Given the description of an element on the screen output the (x, y) to click on. 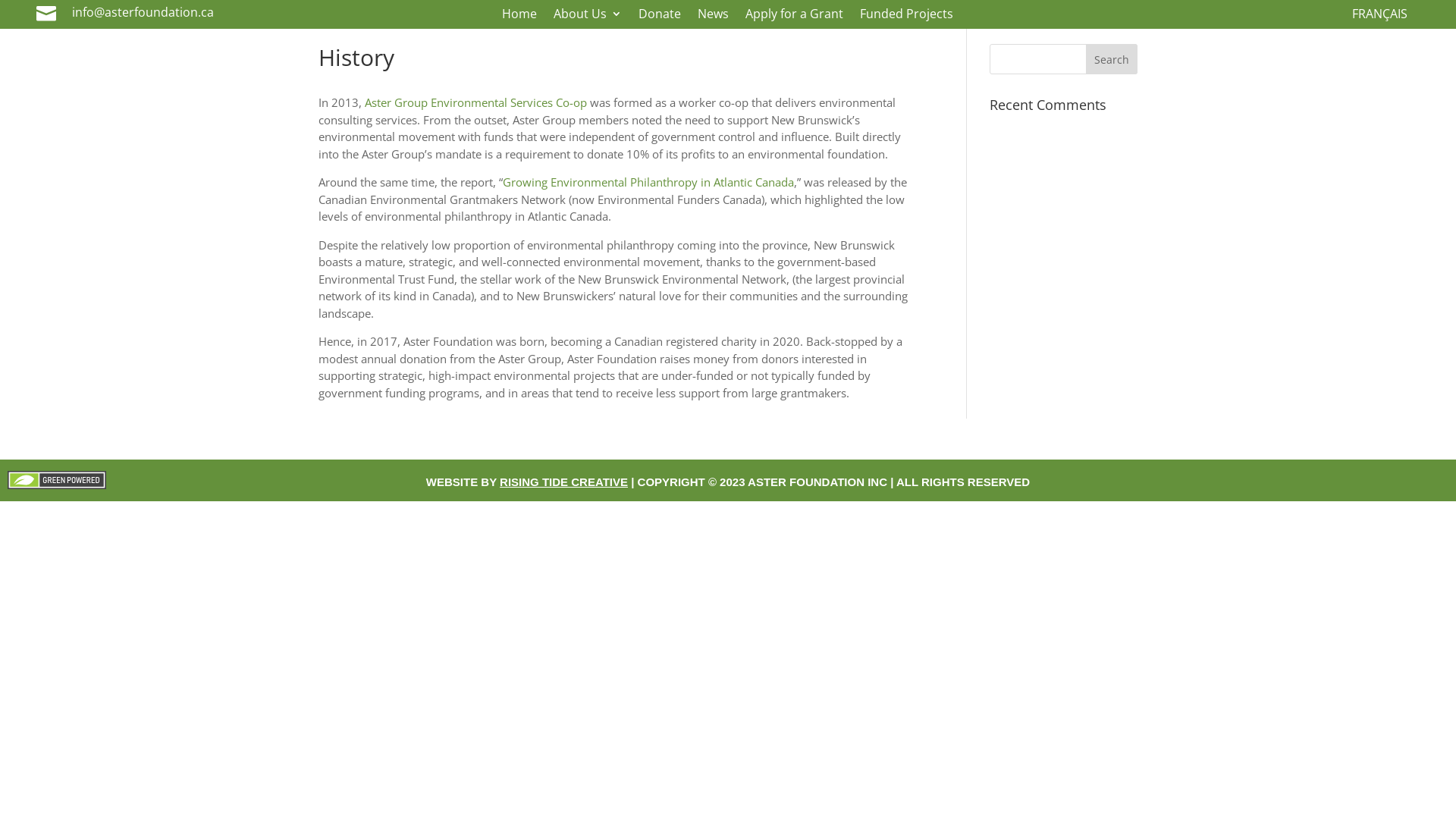
Apply for a Grant Element type: text (794, 16)
Funded Projects Element type: text (906, 16)
Search Element type: text (1111, 58)
Home Element type: text (519, 16)
RISING TIDE CREATIVE Element type: text (563, 481)
News Element type: text (712, 16)
Donate Element type: text (659, 16)
About Us Element type: text (587, 16)
Growing Environmental Philanthropy in Atlantic Canada Element type: text (647, 181)
Aster Group Environmental Services Co-op Element type: text (475, 101)
